Given the description of an element on the screen output the (x, y) to click on. 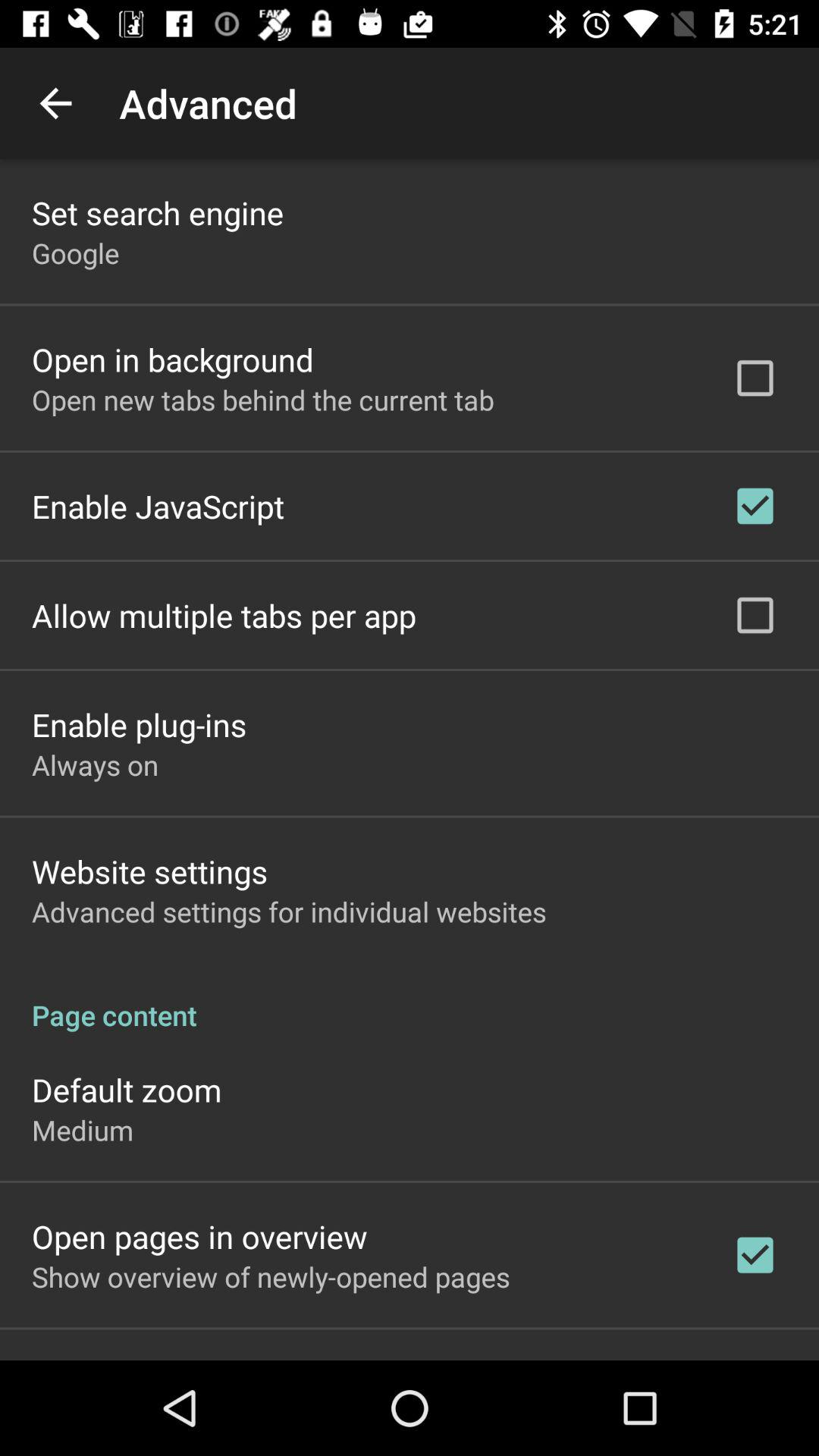
flip to enable plug-ins item (138, 724)
